Given the description of an element on the screen output the (x, y) to click on. 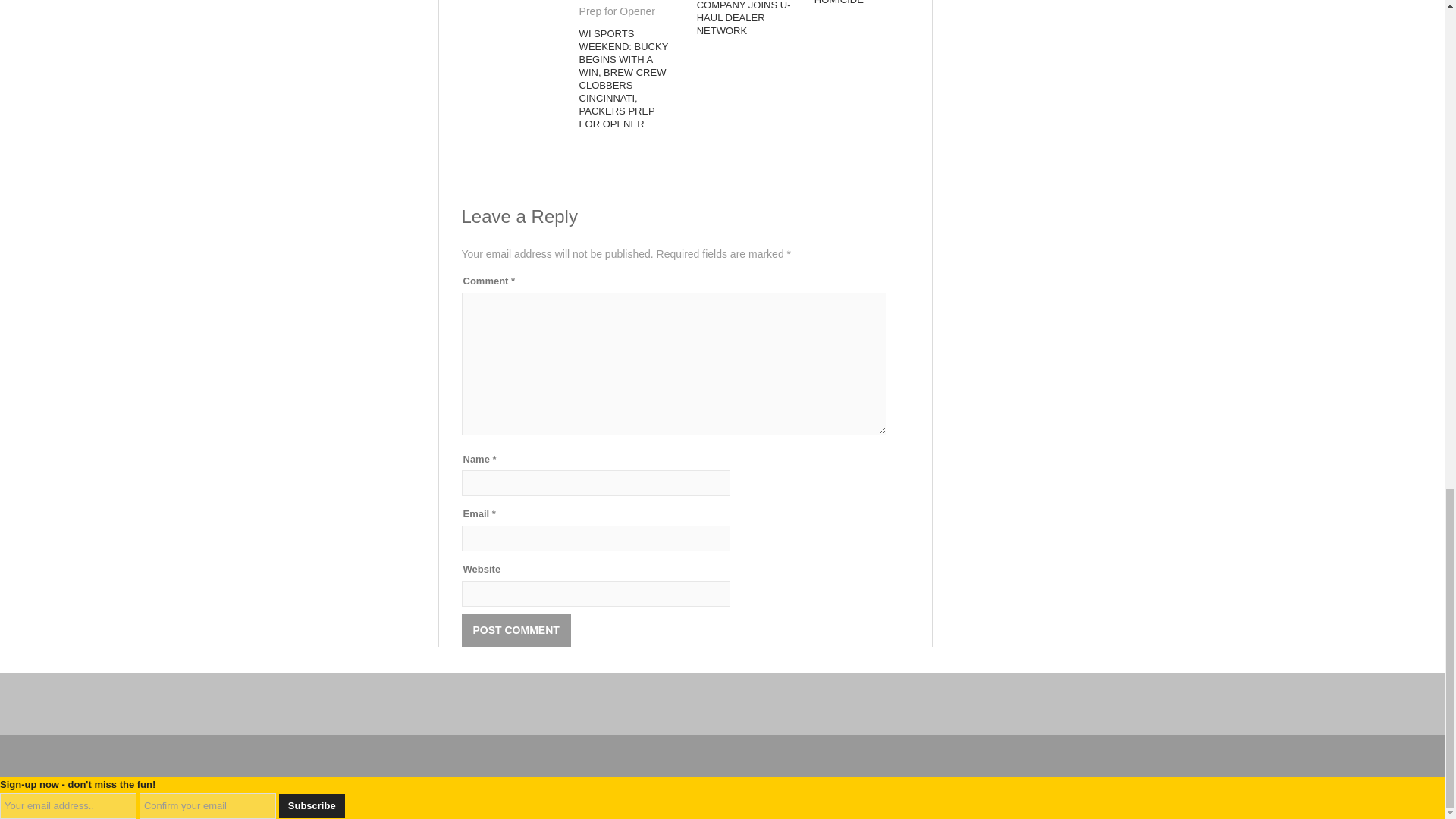
EC POLICE INVESTIGATE THIRD WARD HOMICIDE (846, 2)
Subscribe (312, 805)
Subscribe (312, 805)
Post Comment (515, 630)
JACKSON LUMBER HARVESTER COMPANY JOINS U-HAUL DEALER NETWORK (743, 18)
Post Comment (515, 630)
